Given the description of an element on the screen output the (x, y) to click on. 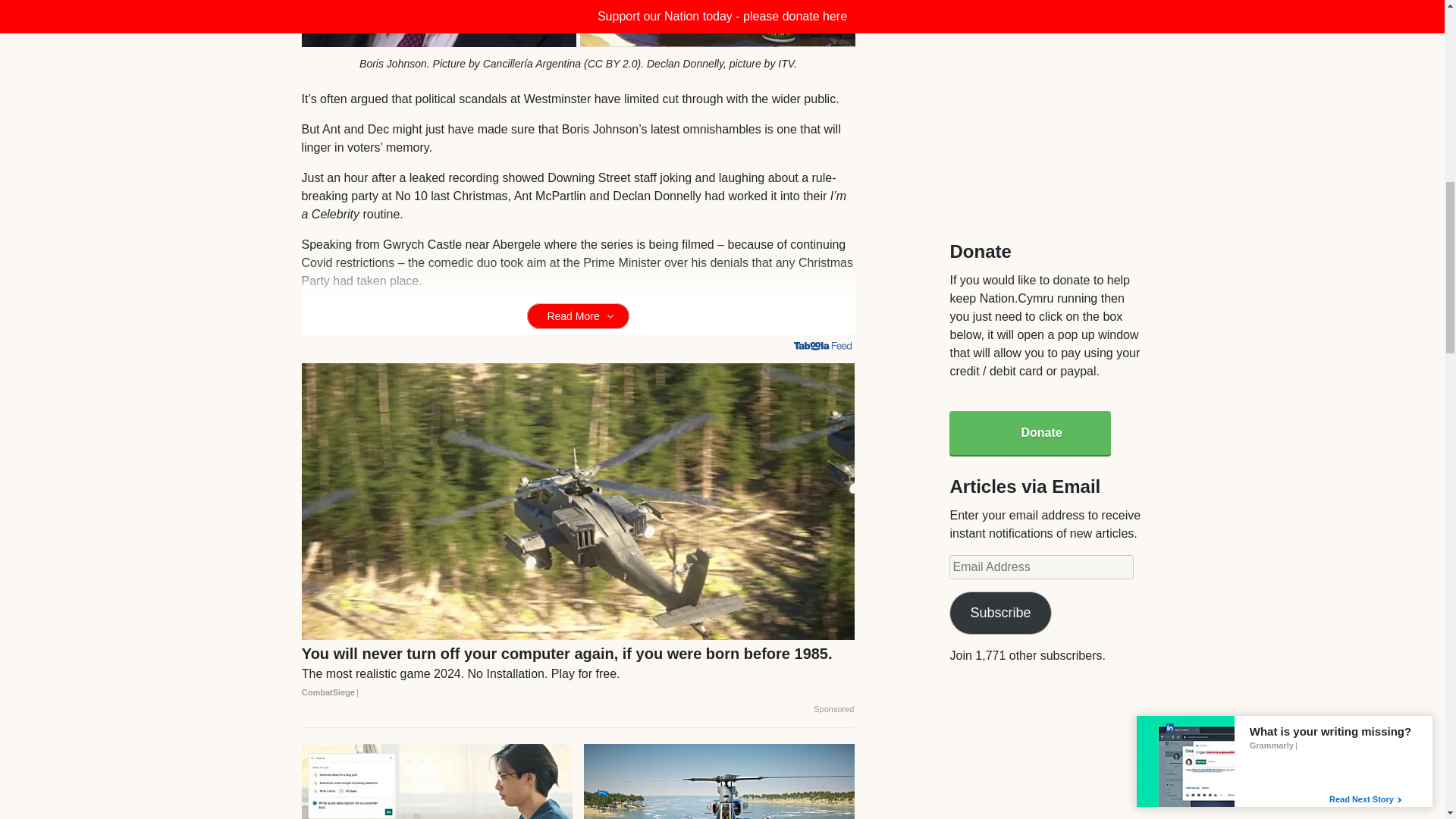
Sponsored (833, 709)
Read More (577, 316)
